Given the description of an element on the screen output the (x, y) to click on. 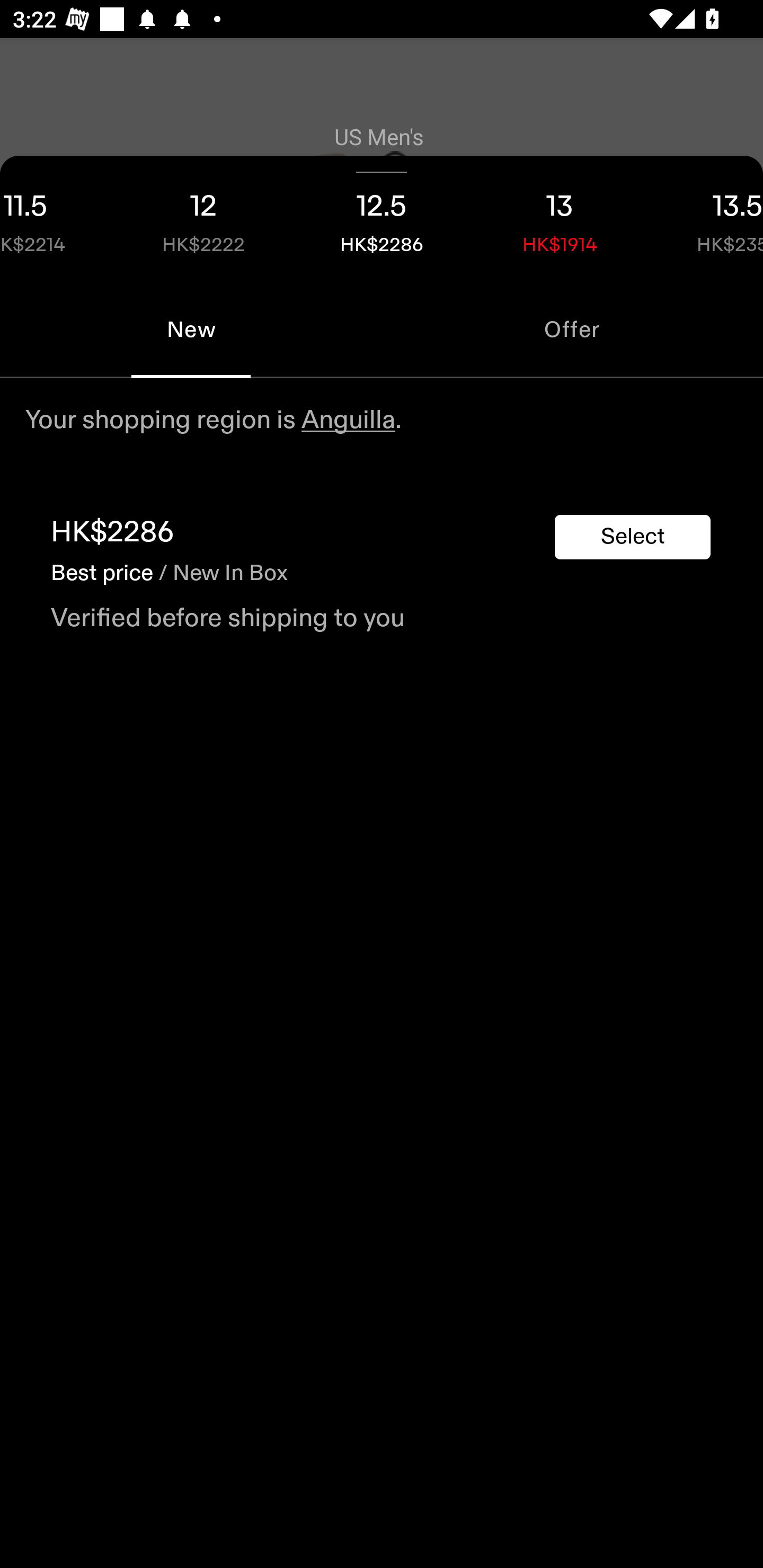
11.5 HK$2214 (57, 218)
12 HK$2222 (203, 218)
12.5 HK$2286 (381, 218)
13 HK$1914 (559, 218)
13.5 HK$2357 (705, 218)
Offer (572, 329)
Select (632, 536)
